Given the description of an element on the screen output the (x, y) to click on. 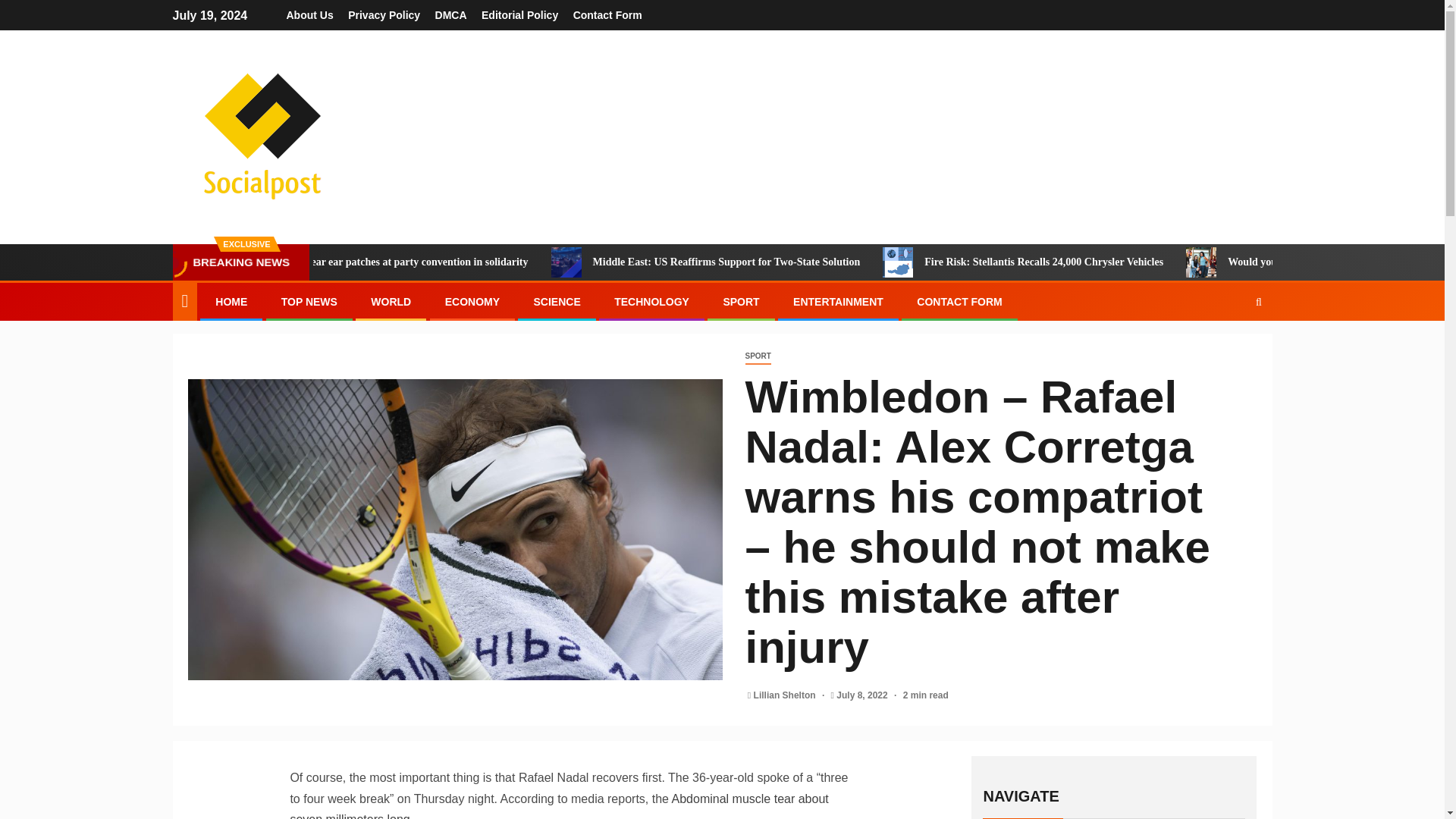
SPORT (757, 356)
CONTACT FORM (960, 301)
Privacy Policy (383, 15)
DMCA (451, 15)
Search (1229, 347)
Editorial Policy (519, 15)
WORLD (390, 301)
Fire Risk: Stellantis Recalls 24,000 Chrysler Vehicles (970, 262)
HOME (231, 301)
Middle East: US Reaffirms Support for Two-State Solution (815, 262)
Fire Risk: Stellantis Recalls 24,000 Chrysler Vehicles (1132, 262)
Search (1258, 301)
About Us (309, 15)
SCIENCE (555, 301)
